Given the description of an element on the screen output the (x, y) to click on. 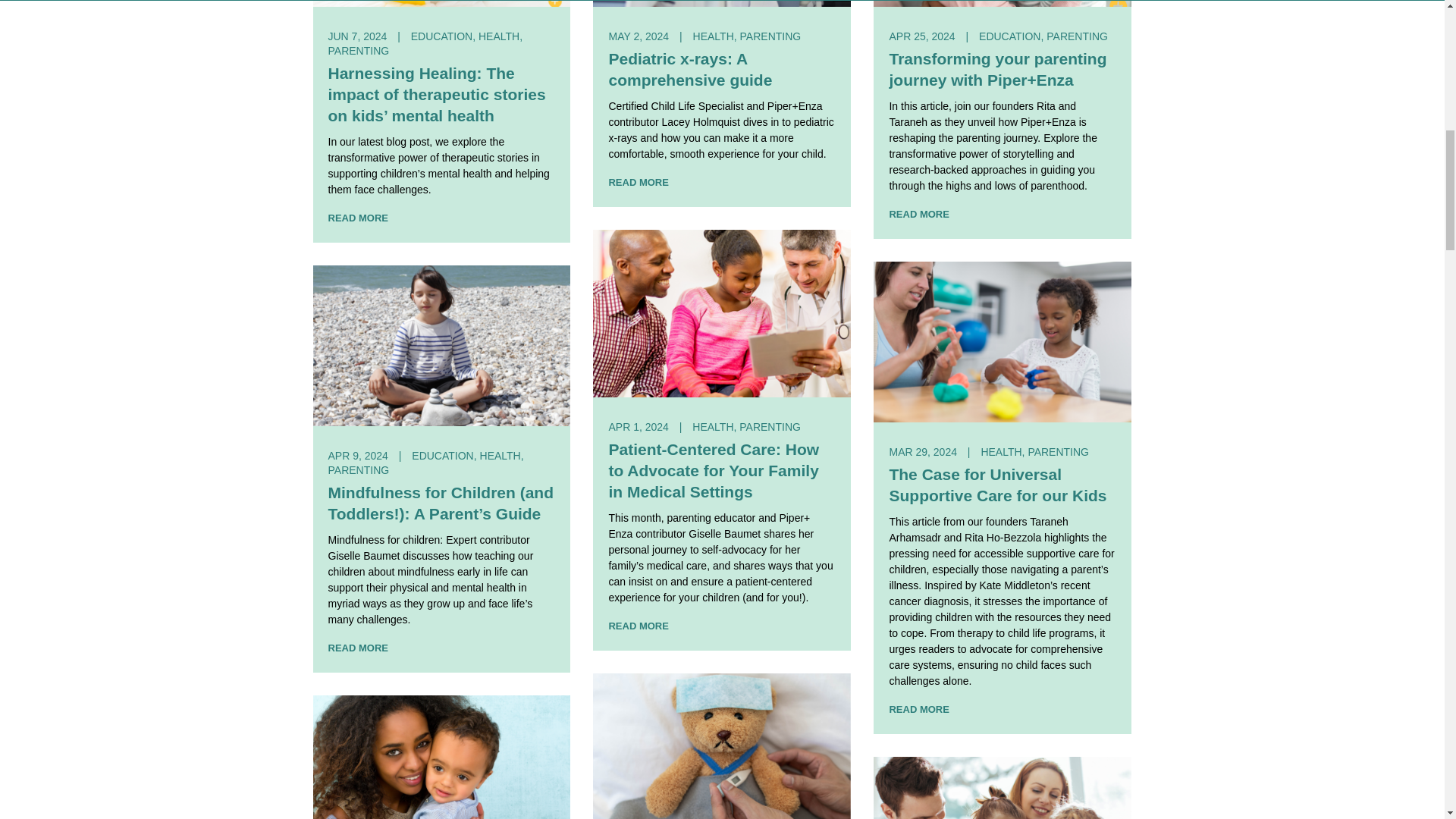
HEALTH (499, 36)
EDUCATION (437, 36)
